Given the description of an element on the screen output the (x, y) to click on. 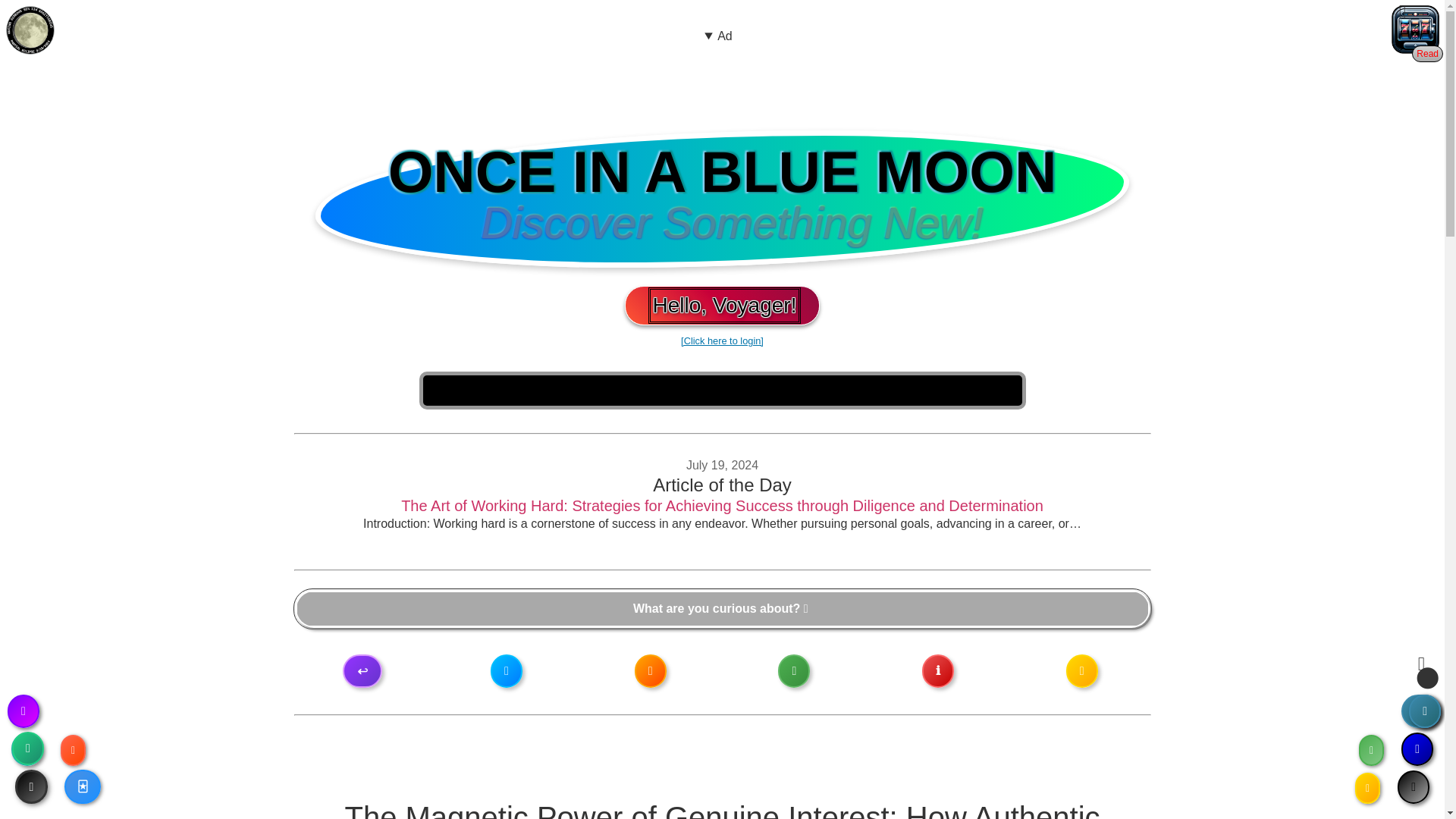
Hello, Voyager! (724, 305)
Search (722, 608)
Advertisement (718, 79)
